Given the description of an element on the screen output the (x, y) to click on. 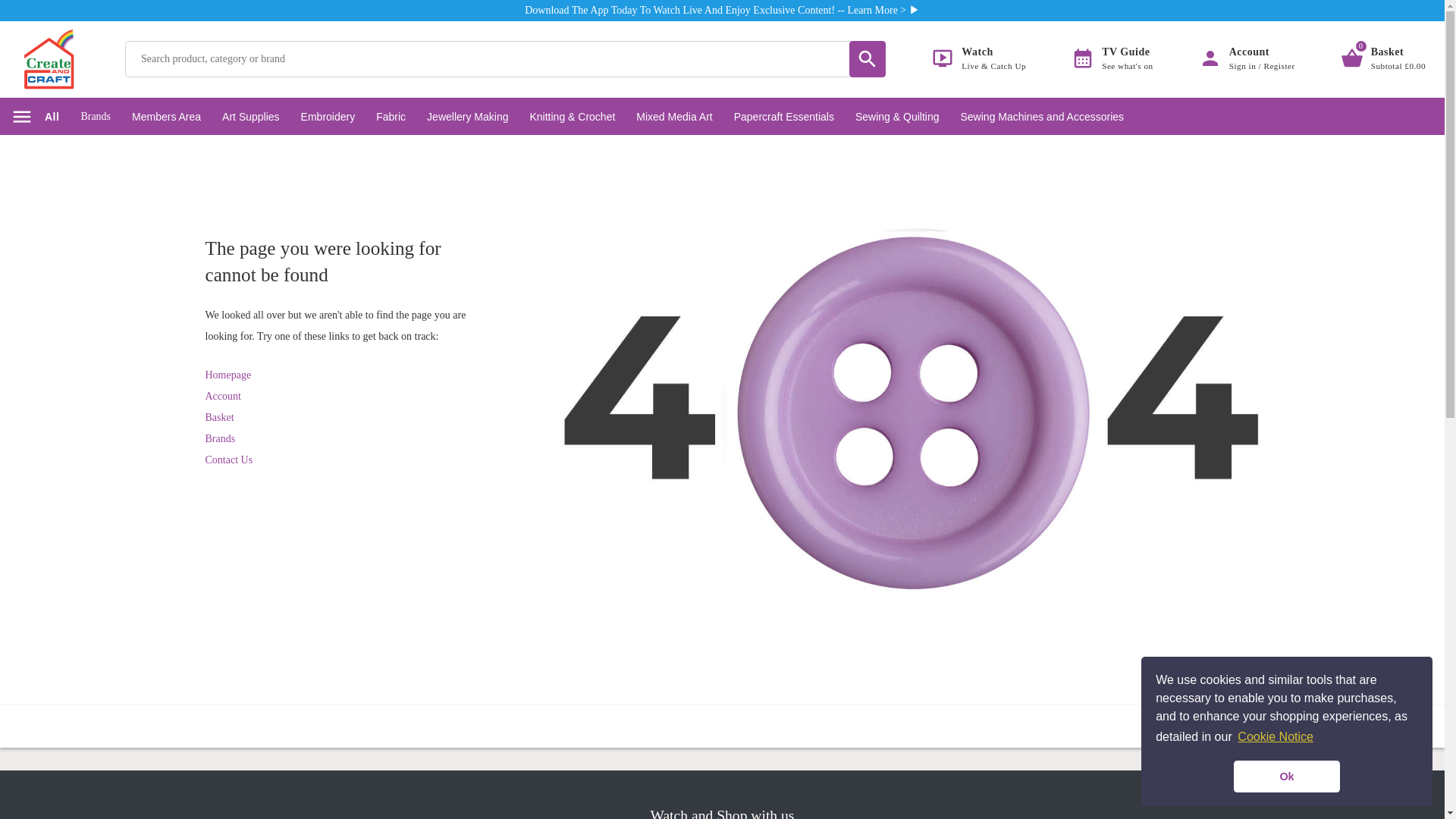
Jewellery Making (1112, 58)
Papercraft Essentials (467, 116)
Brands (783, 116)
Art Supplies (94, 116)
Fabric (250, 116)
Mixed Media Art (390, 116)
Embroidery (674, 116)
Basket (327, 116)
TV Guide (1382, 58)
